Given the description of an element on the screen output the (x, y) to click on. 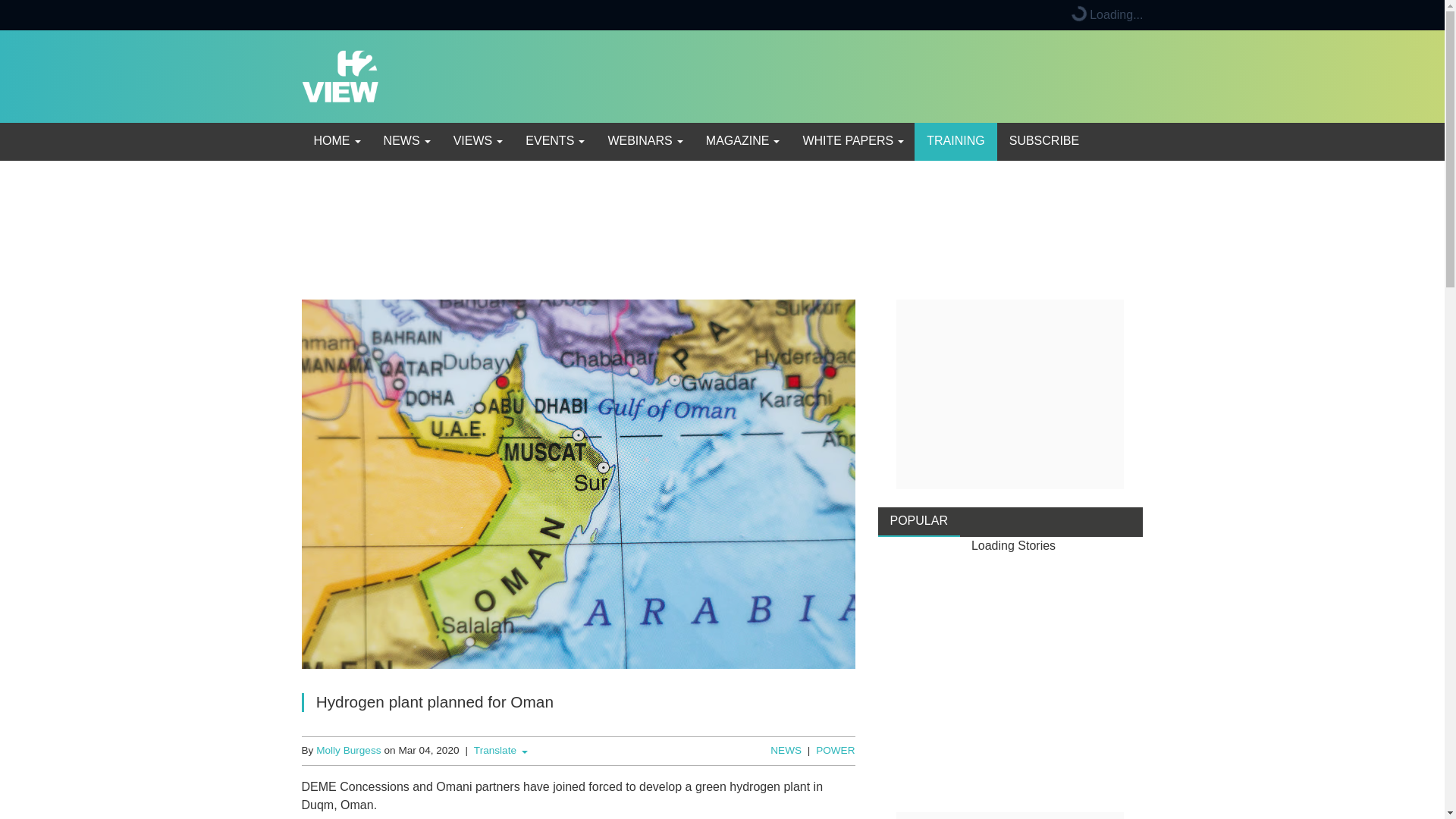
NEWS (406, 140)
H2 View (339, 74)
Home (336, 140)
VIEWS (477, 140)
HOME (336, 140)
News (406, 140)
